Given the description of an element on the screen output the (x, y) to click on. 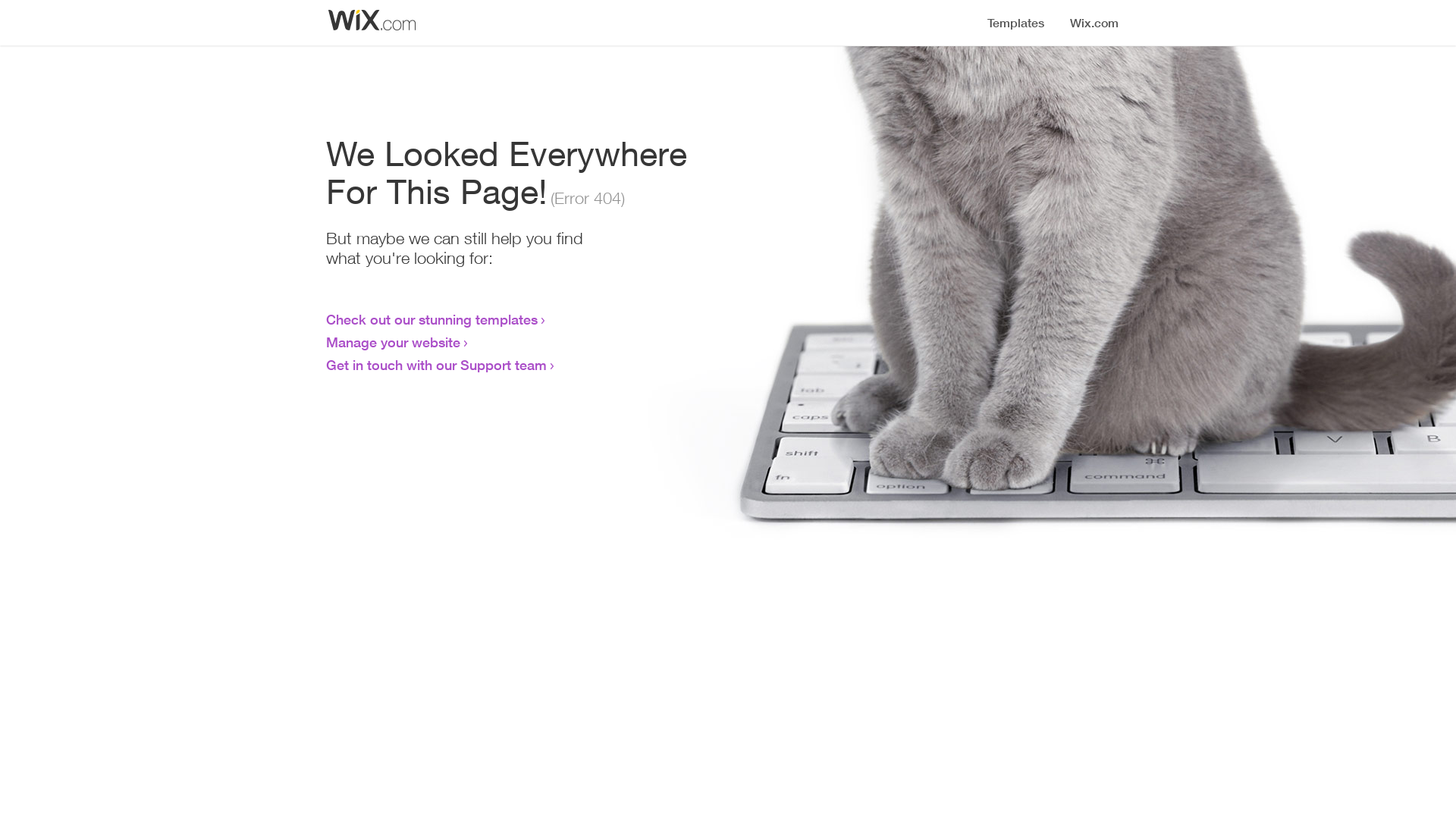
Get in touch with our Support team Element type: text (436, 364)
Manage your website Element type: text (393, 341)
Check out our stunning templates Element type: text (431, 318)
